Given the description of an element on the screen output the (x, y) to click on. 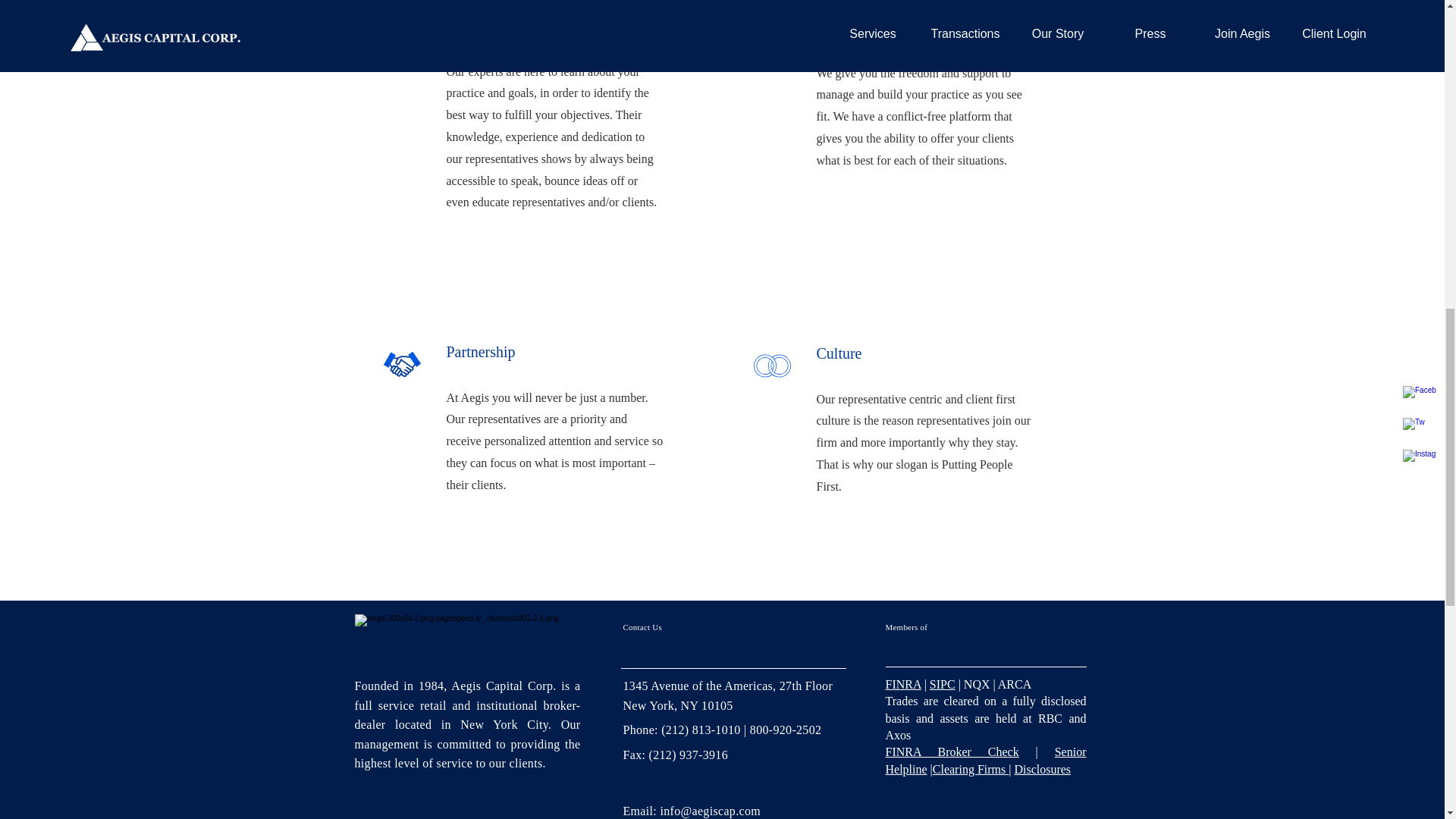
FINRA (903, 684)
Disclosures (1041, 768)
Senior Helpline (985, 759)
FINRA Broker Check (952, 751)
SIPC (942, 684)
Clearing Firms  (971, 768)
